Given the description of an element on the screen output the (x, y) to click on. 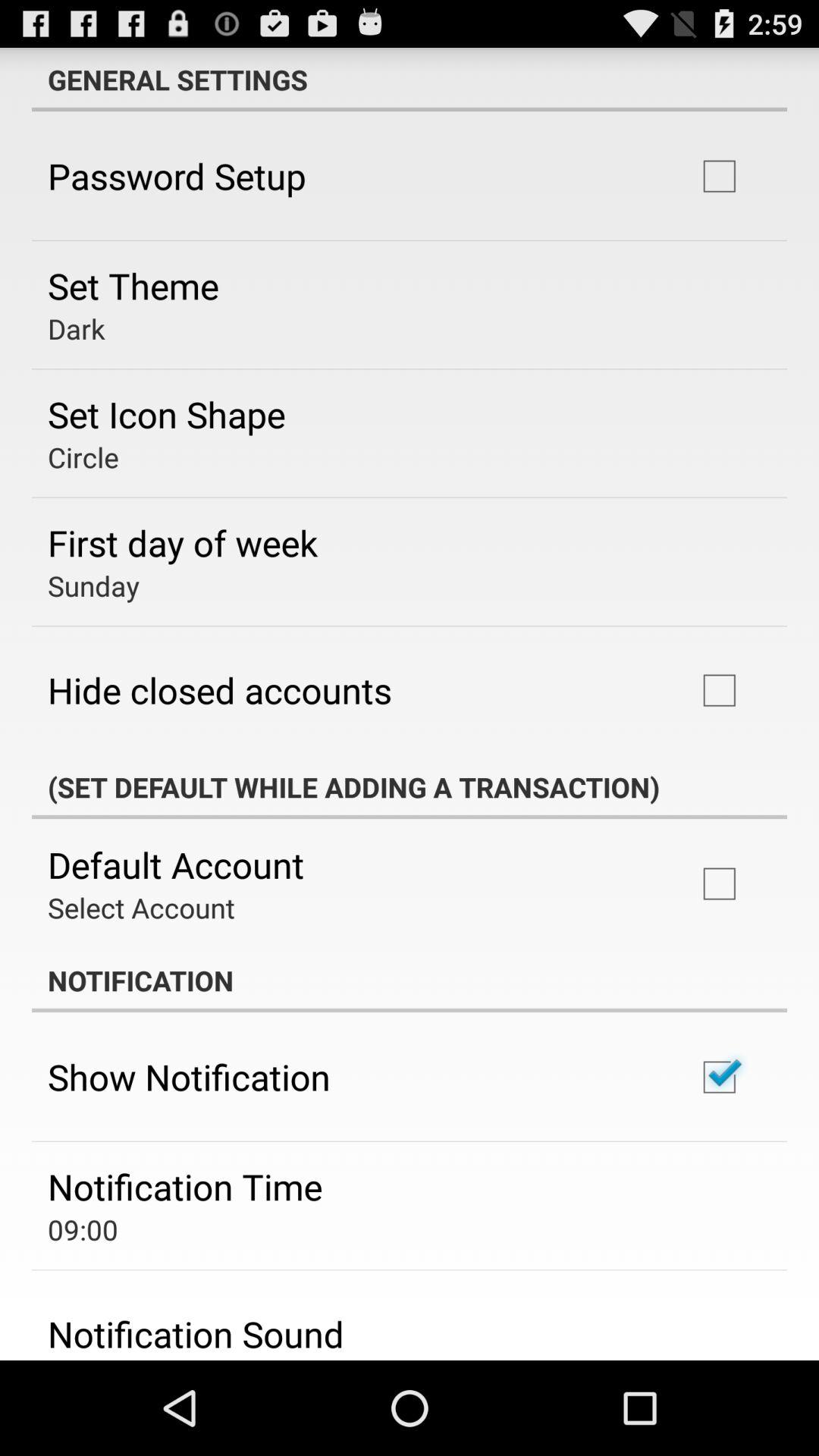
choose the show notification app (188, 1076)
